Given the description of an element on the screen output the (x, y) to click on. 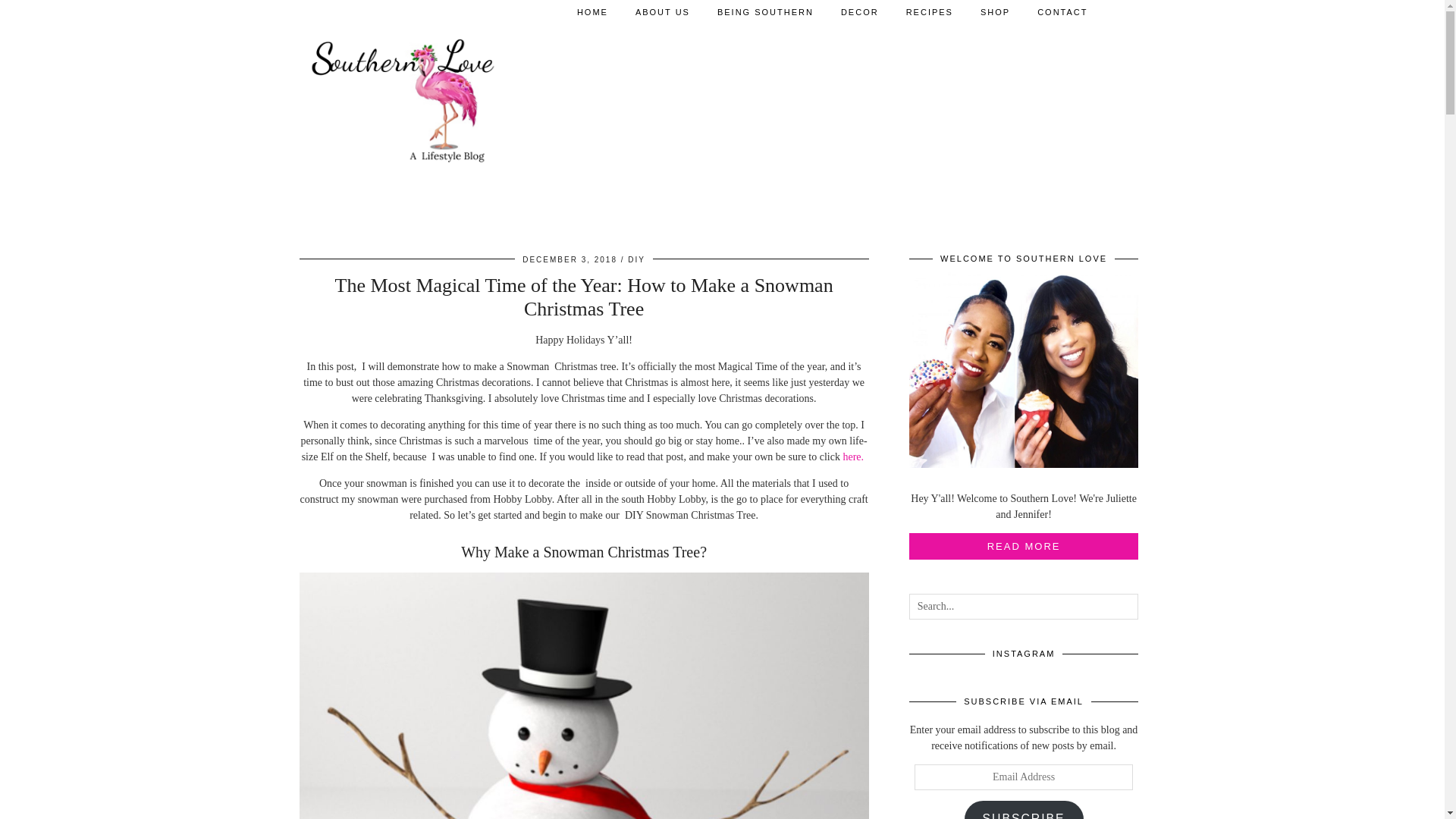
SHOP (994, 12)
DECOR (859, 12)
here.  (854, 456)
DIY (636, 259)
CONTACT (1061, 12)
ABOUT US (662, 12)
HOME (592, 12)
RECIPES (929, 12)
BEING SOUTHERN (765, 12)
